Given the description of an element on the screen output the (x, y) to click on. 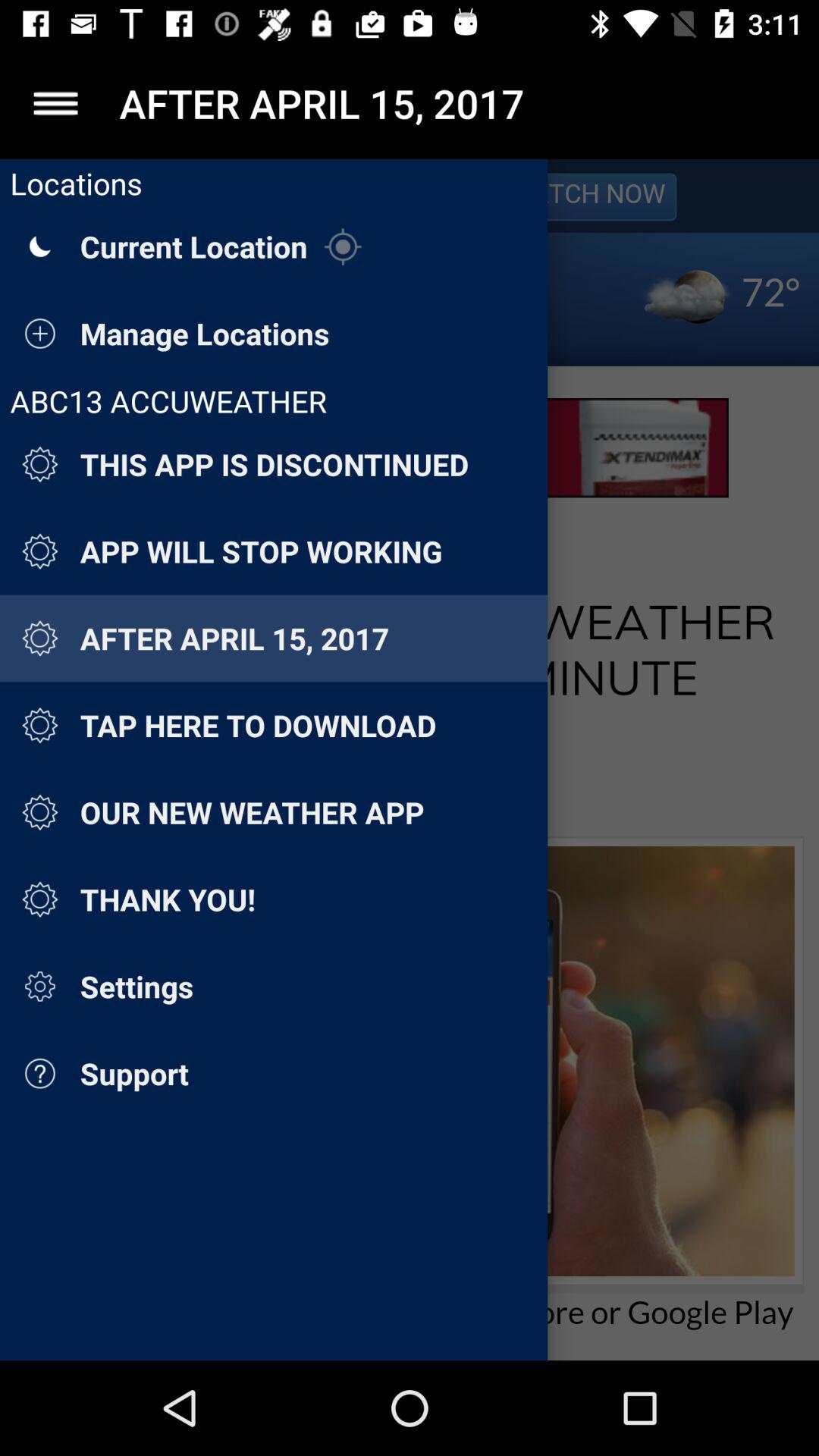
turn on the icon next to the after april 15 item (55, 103)
